Given the description of an element on the screen output the (x, y) to click on. 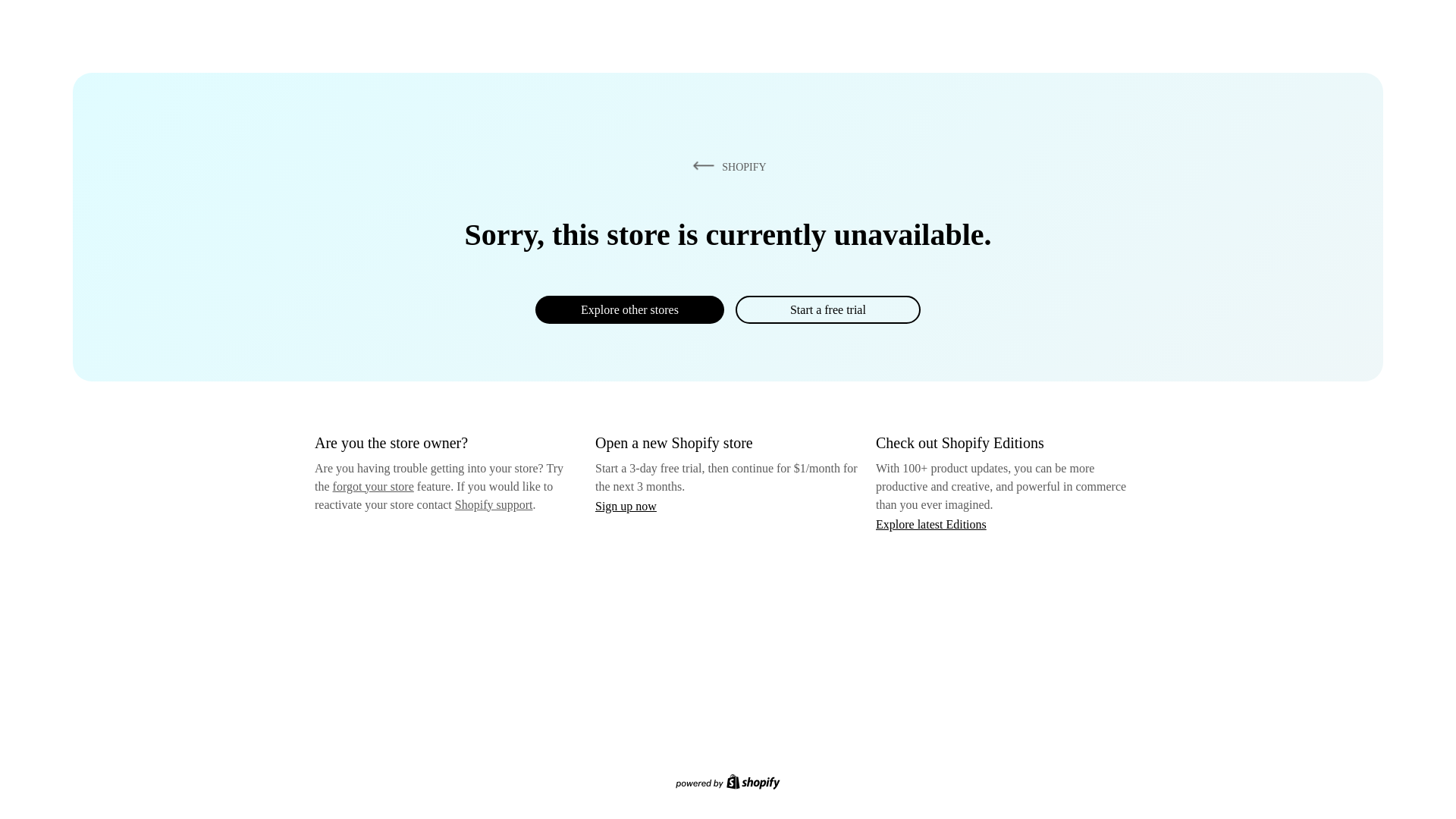
Start a free trial (827, 309)
Explore latest Editions (931, 523)
forgot your store (373, 486)
Explore other stores (629, 309)
SHOPIFY (726, 166)
Shopify support (493, 504)
Sign up now (625, 505)
